Given the description of an element on the screen output the (x, y) to click on. 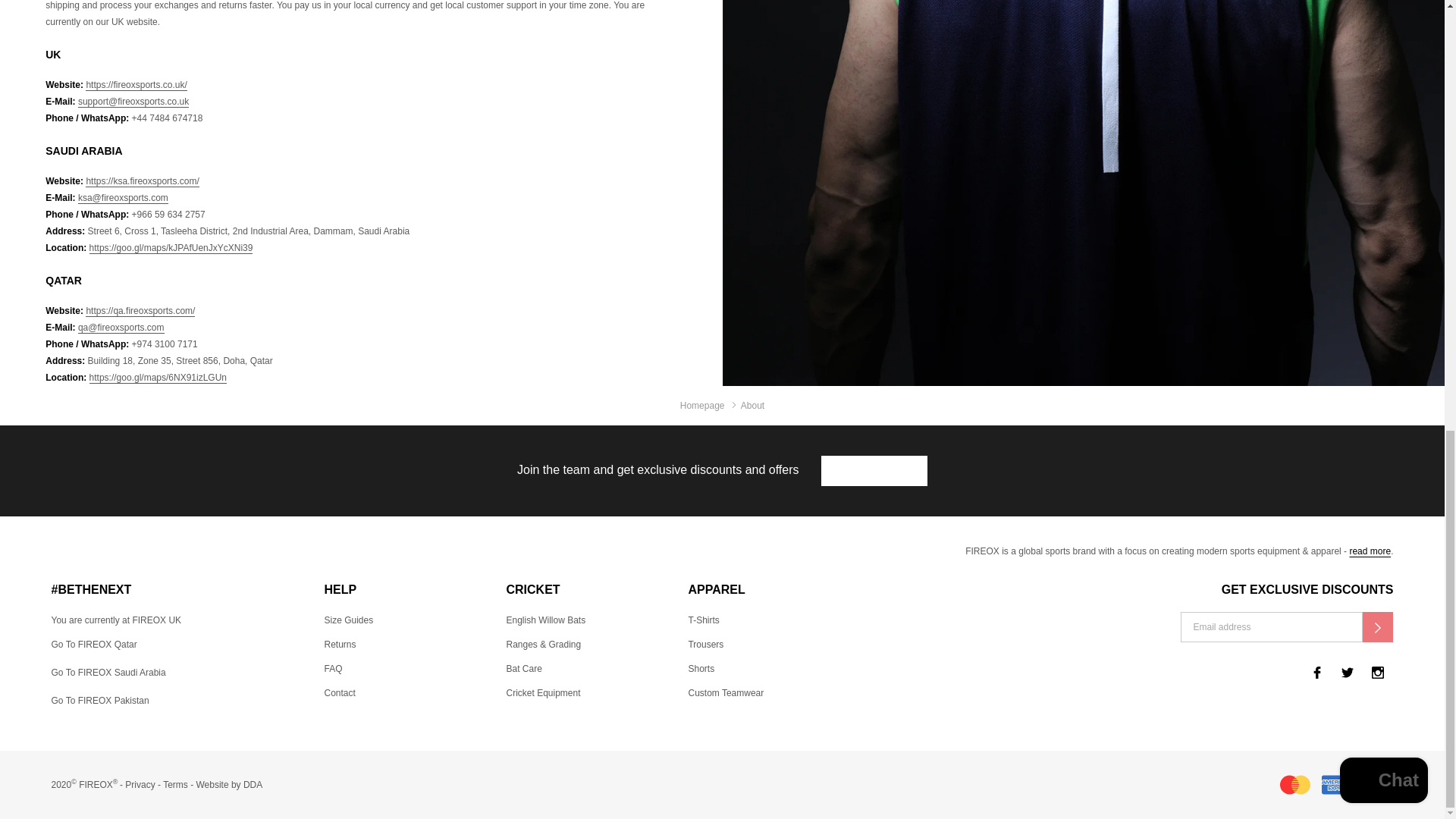
About (1369, 551)
Facebook (1316, 672)
Twitter (1347, 672)
Instagram (1377, 672)
